Given the description of an element on the screen output the (x, y) to click on. 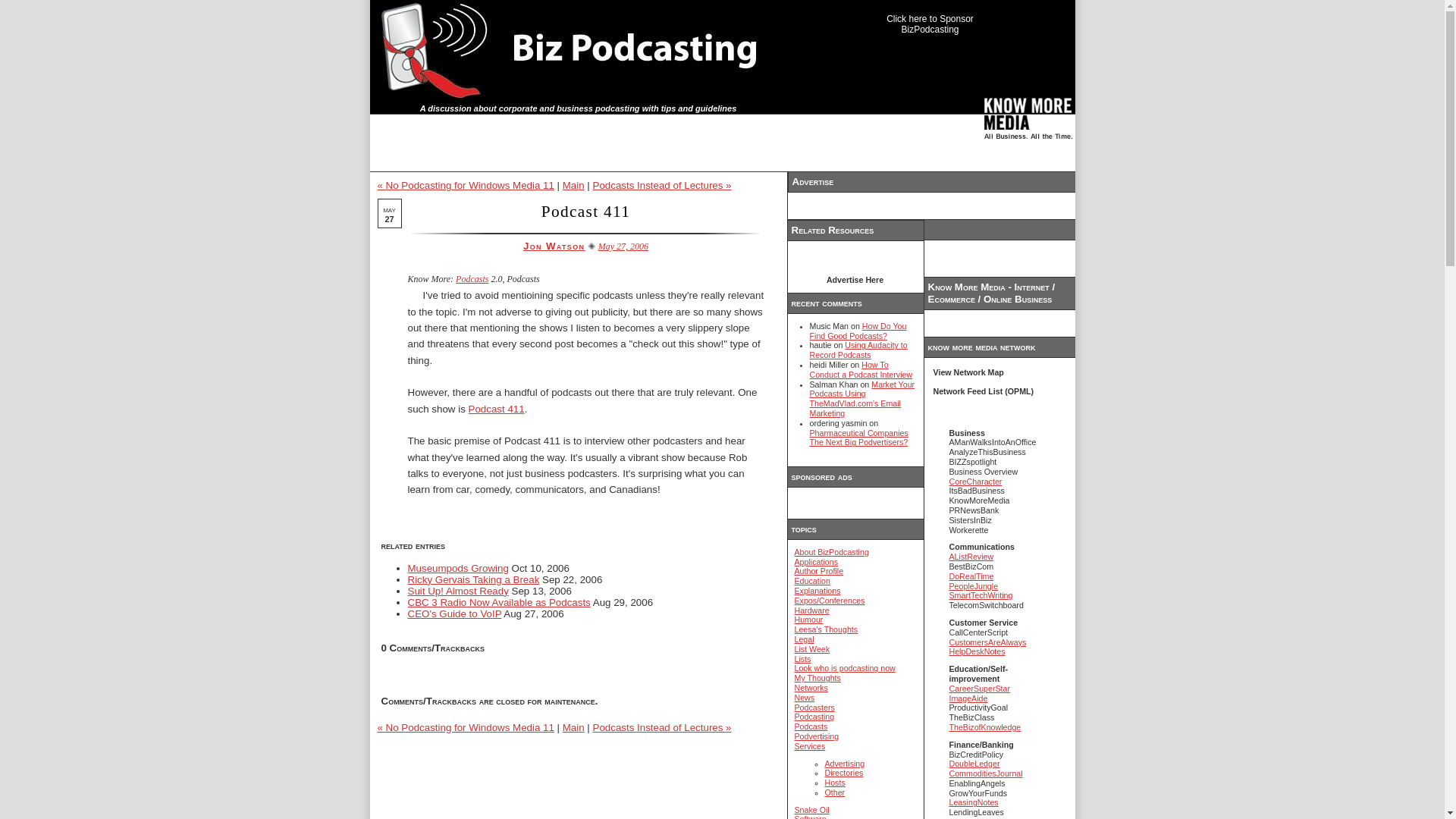
My Thoughts (817, 677)
Networks (811, 687)
Look who is podcasting now (844, 667)
Main (573, 727)
Hardware (811, 610)
Leesa's Thoughts (826, 628)
Humour (809, 619)
How Do You Find Good Podcasts? (858, 330)
List Week (811, 648)
Author Profile (819, 570)
Podcasts (471, 278)
Pharmaceutical Companies The Next Big Podvertisers? (858, 437)
Humour (809, 619)
Hardware (811, 610)
Podcast 411 (585, 211)
